Given the description of an element on the screen output the (x, y) to click on. 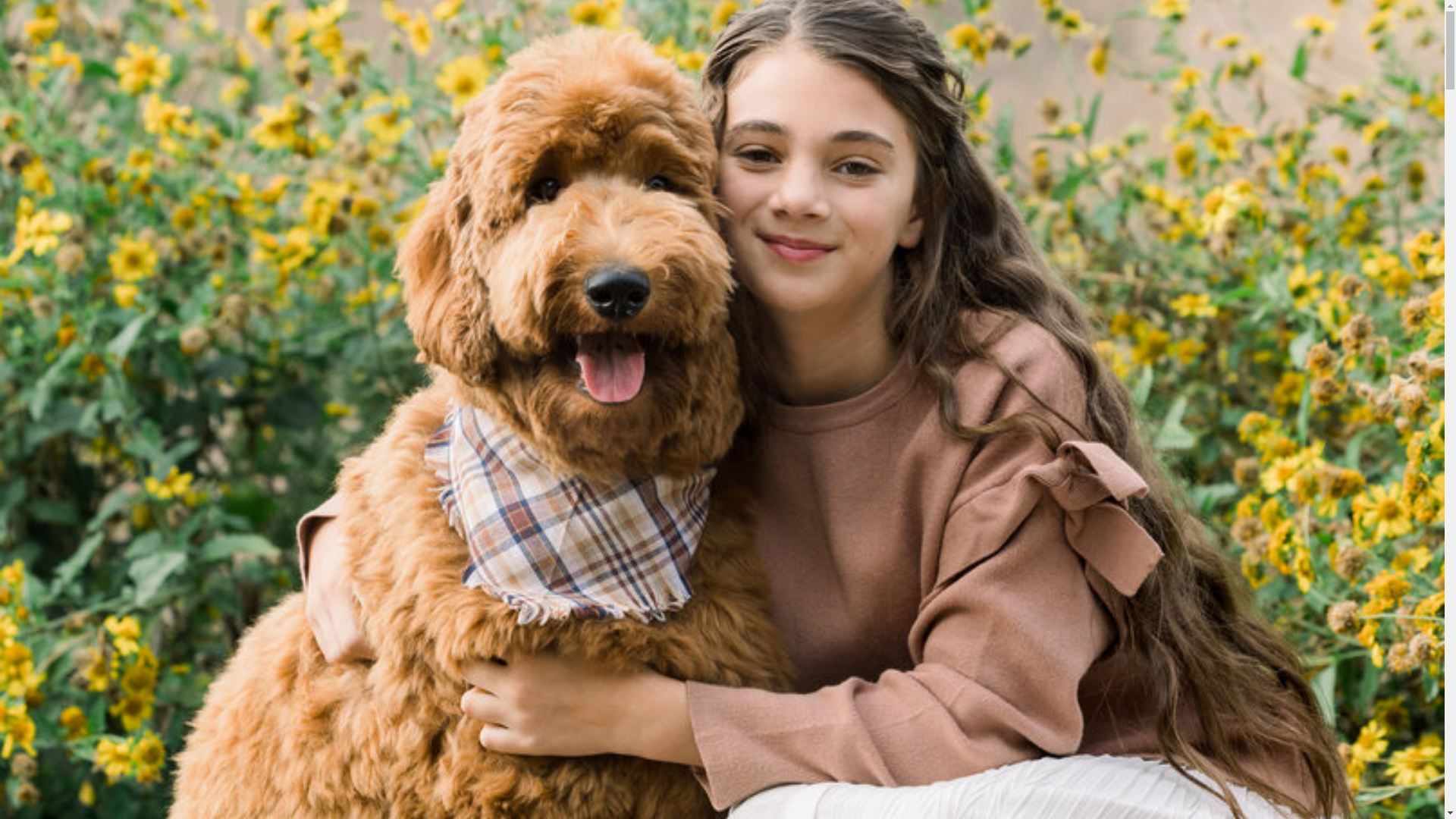
FILM (460, 22)
ENGAGEMENTS (460, 499)
CONTACT (460, 70)
ENGAGEMENTS (278, 228)
PORTRAITS (460, 545)
ABOUT (460, 46)
PHOTOGRAPHY (460, 34)
WEDDINGS (460, 522)
HOME (460, 58)
DESTINATION (460, 567)
BLOG (460, 11)
